Given the description of an element on the screen output the (x, y) to click on. 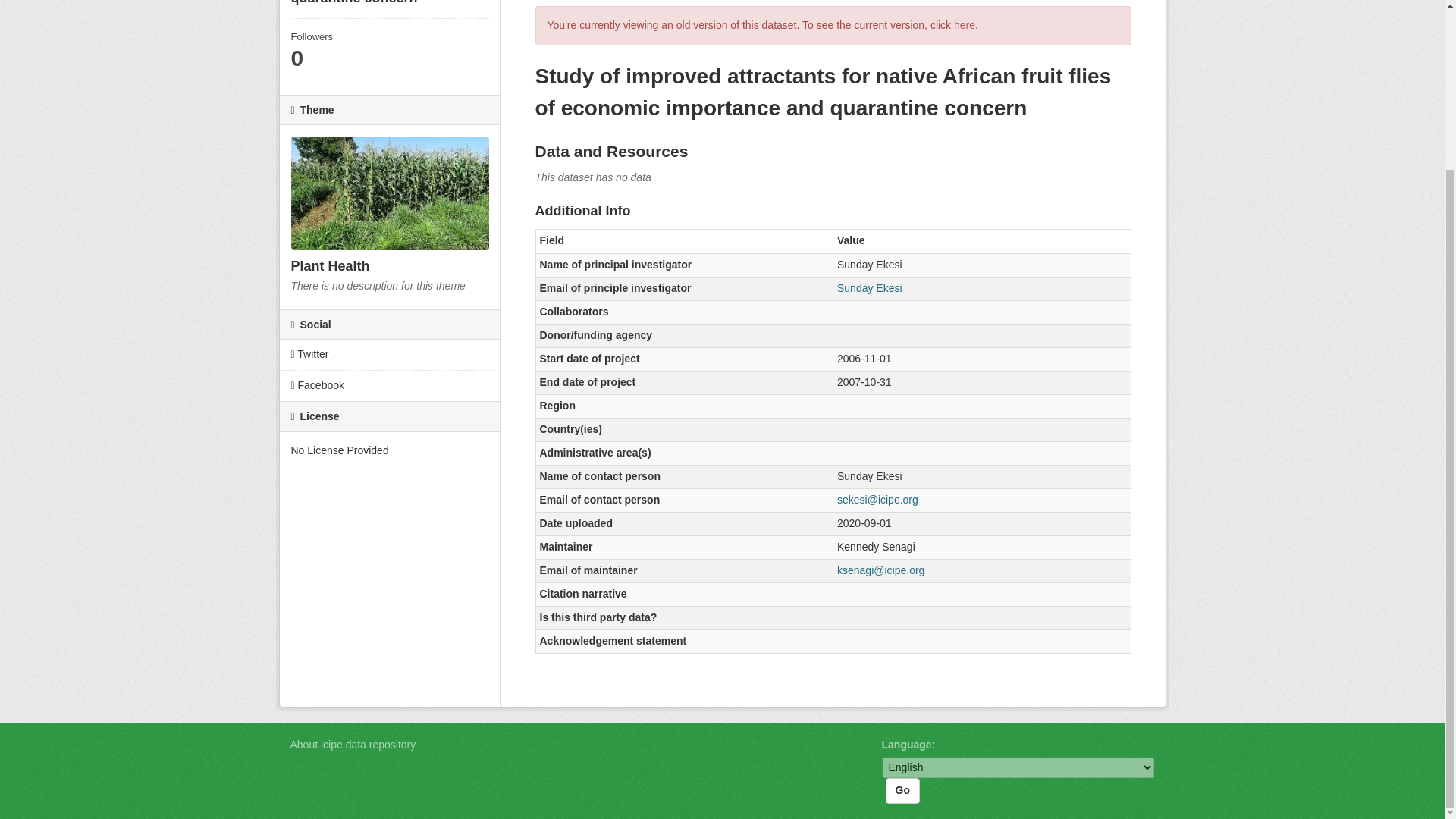
Facebook (389, 386)
Twitter (389, 354)
Go (902, 790)
here (964, 24)
Sunday Ekesi (869, 287)
About icipe data repository (351, 744)
